Given the description of an element on the screen output the (x, y) to click on. 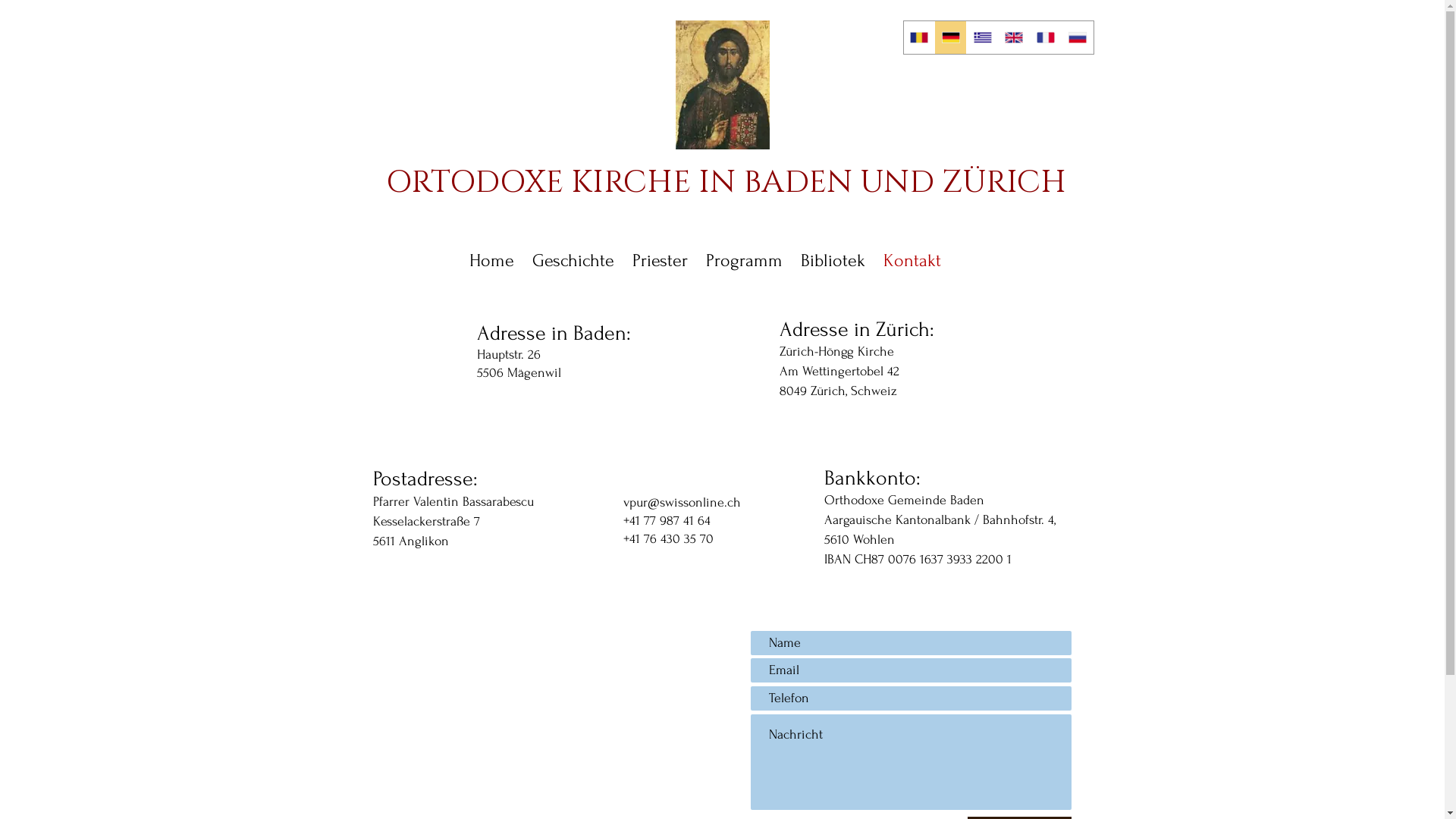
Kontakt Element type: text (912, 260)
Home Element type: text (491, 260)
Priester Element type: text (659, 260)
vpur@swissonline.ch Element type: text (681, 502)
Bibliotek Element type: text (832, 260)
Geschichte Element type: text (573, 260)
Programm Element type: text (743, 260)
